Given the description of an element on the screen output the (x, y) to click on. 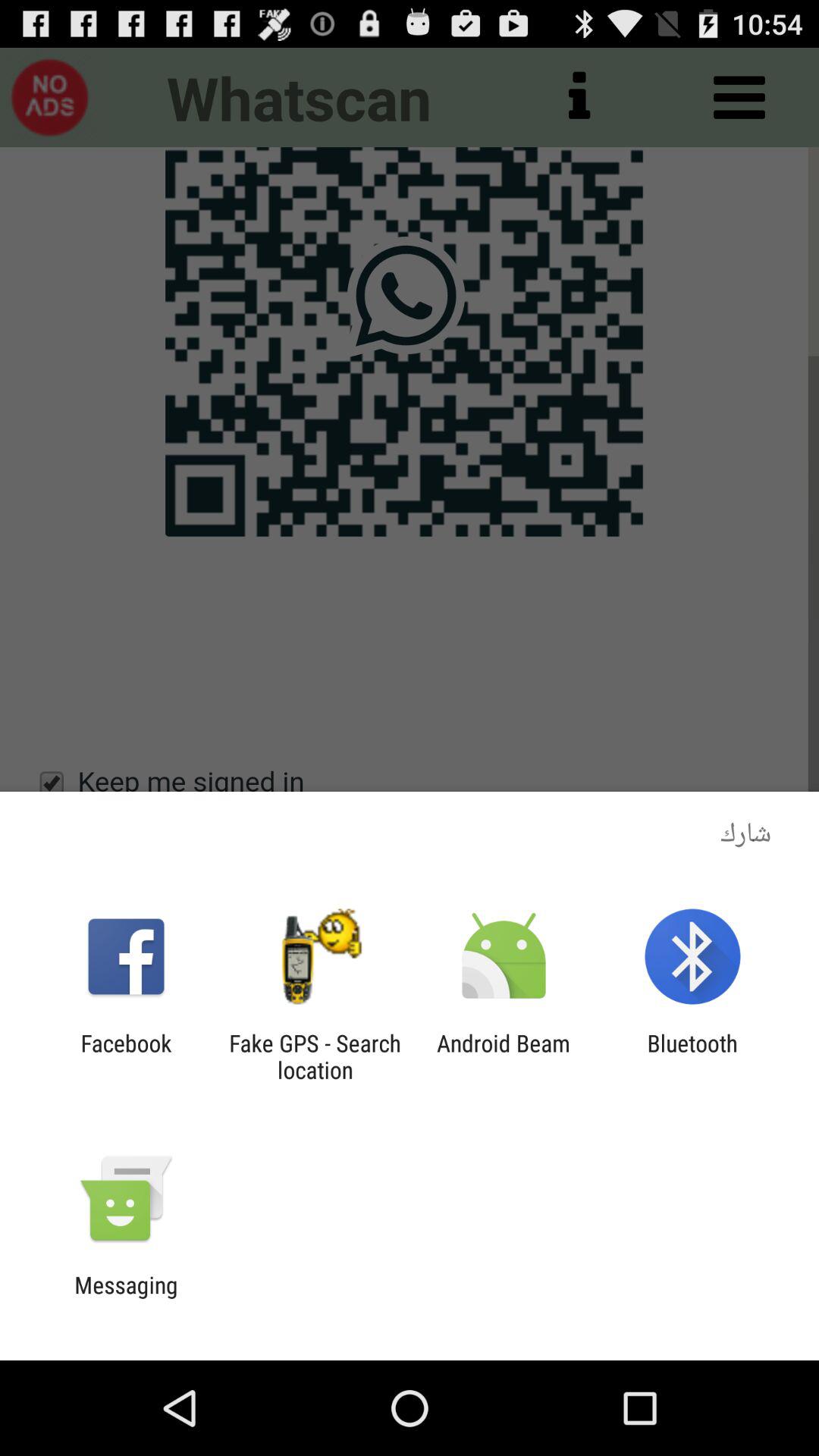
launch the fake gps search item (314, 1056)
